Given the description of an element on the screen output the (x, y) to click on. 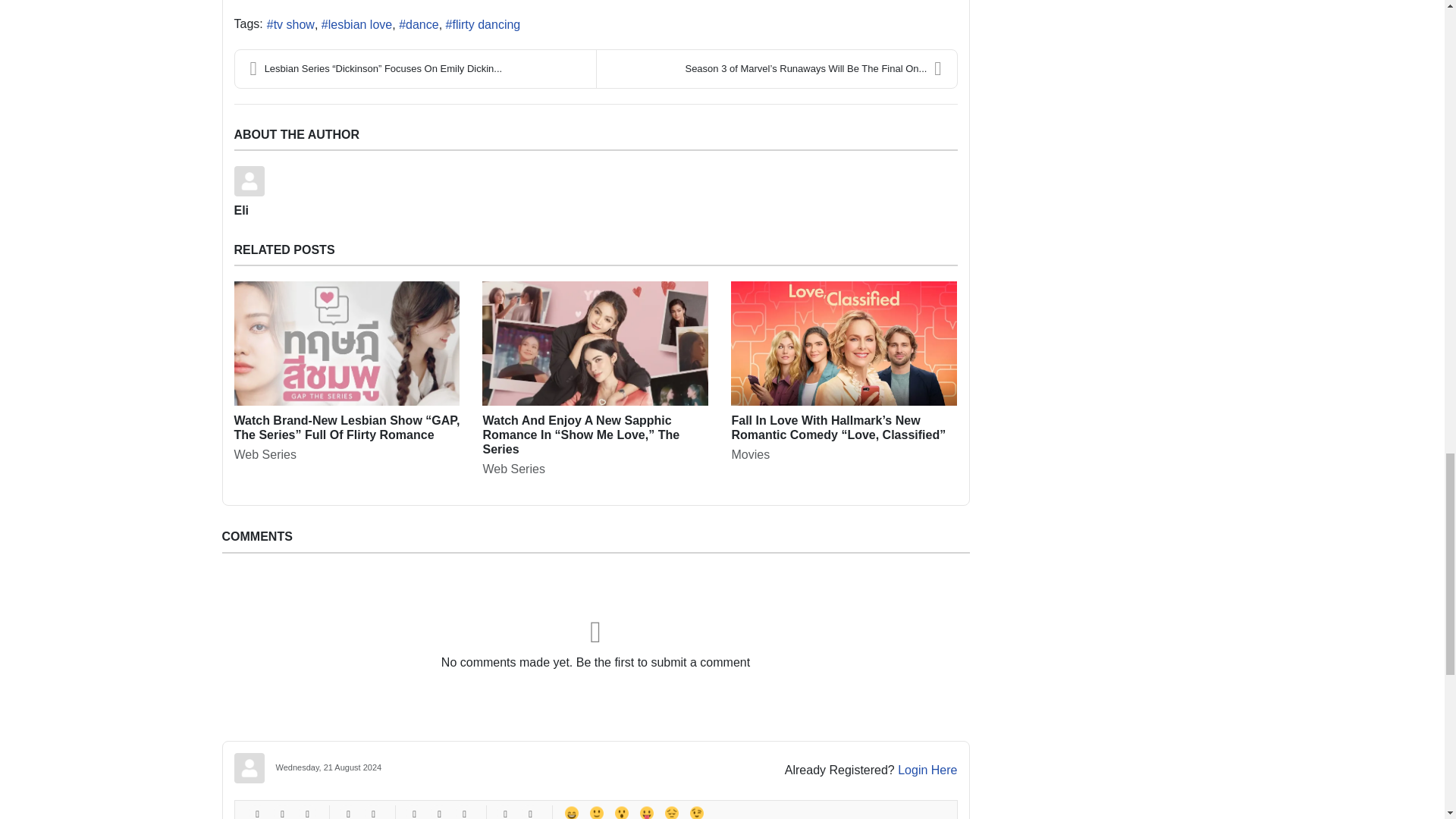
Surprised (620, 812)
Numeric list (438, 812)
Quotes (505, 812)
Smile (596, 812)
Happy (570, 812)
Bulleted list (414, 812)
List item (464, 812)
Clean (529, 812)
Tongue (646, 812)
Unhappy (670, 812)
